Given the description of an element on the screen output the (x, y) to click on. 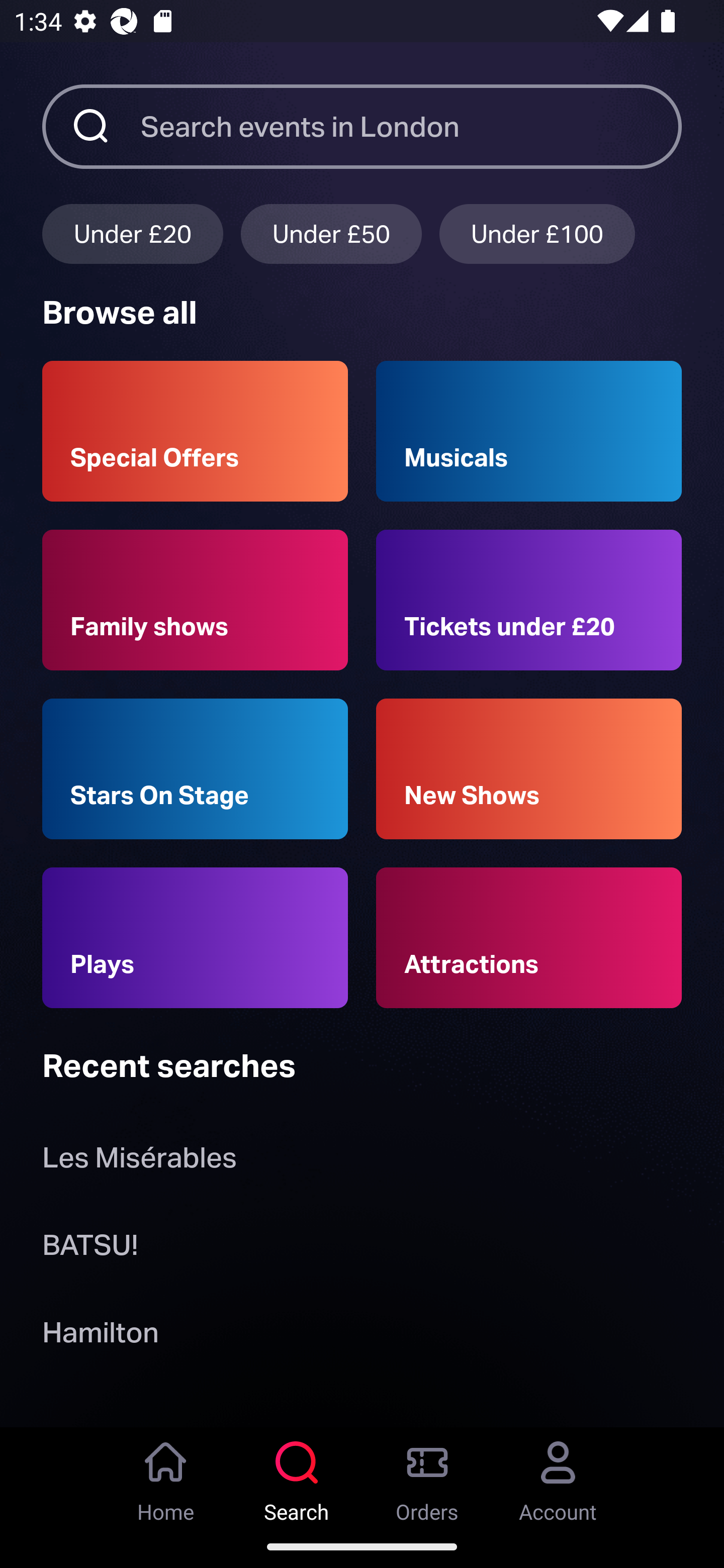
Search events in London (411, 126)
Under £20 (131, 233)
Under £50 (331, 233)
Under £100 (536, 233)
Special Offers (194, 430)
Musicals (528, 430)
Family shows (194, 600)
Tickets under £20  (528, 600)
Stars On Stage (194, 768)
New Shows (528, 768)
Plays (194, 937)
Attractions  (528, 937)
Les Misérables (138, 1161)
BATSU! (89, 1248)
Hamilton (99, 1335)
Home (165, 1475)
Orders (427, 1475)
Account (558, 1475)
